Given the description of an element on the screen output the (x, y) to click on. 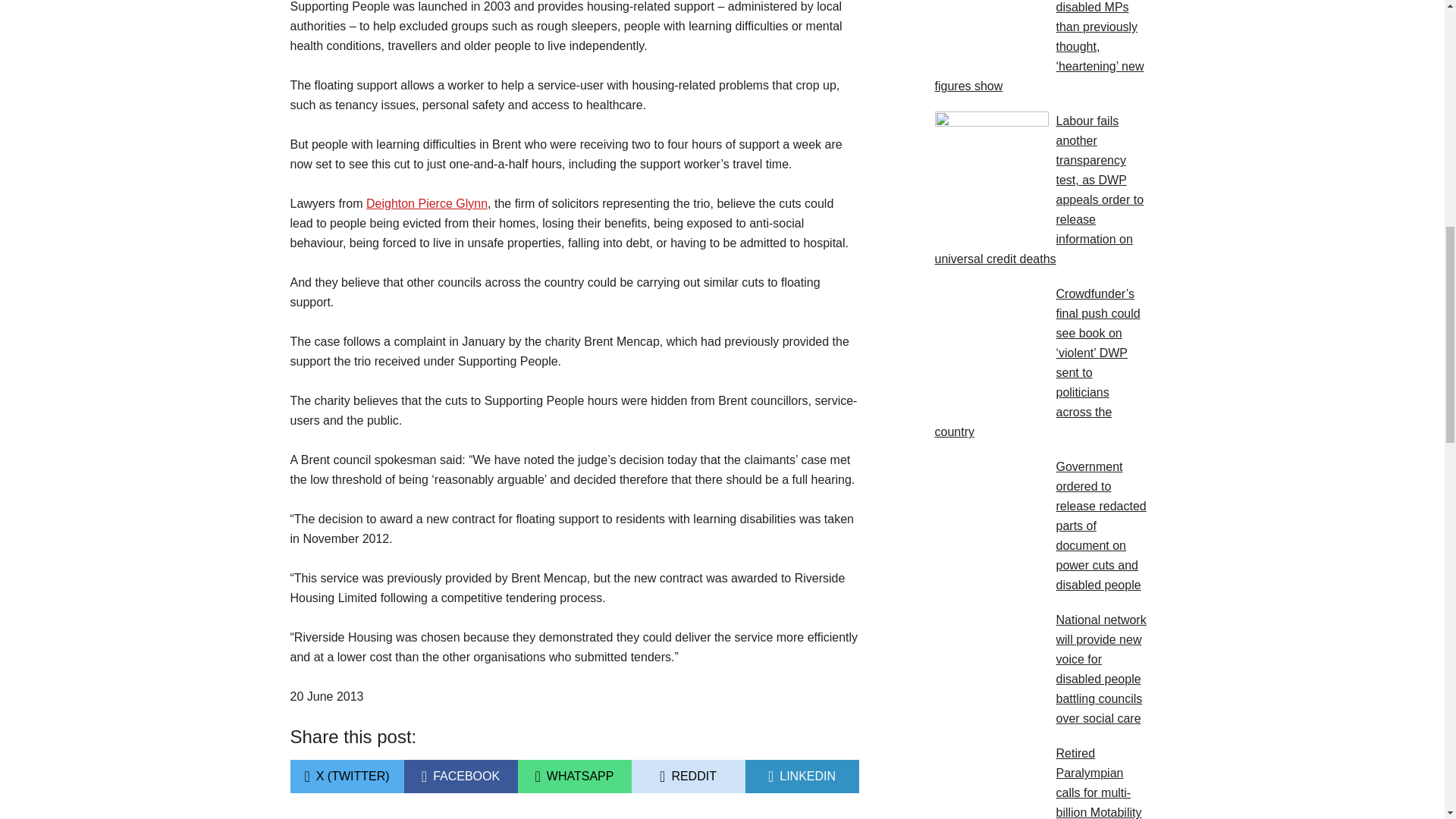
Deighton Pierce Glynn (459, 776)
